Given the description of an element on the screen output the (x, y) to click on. 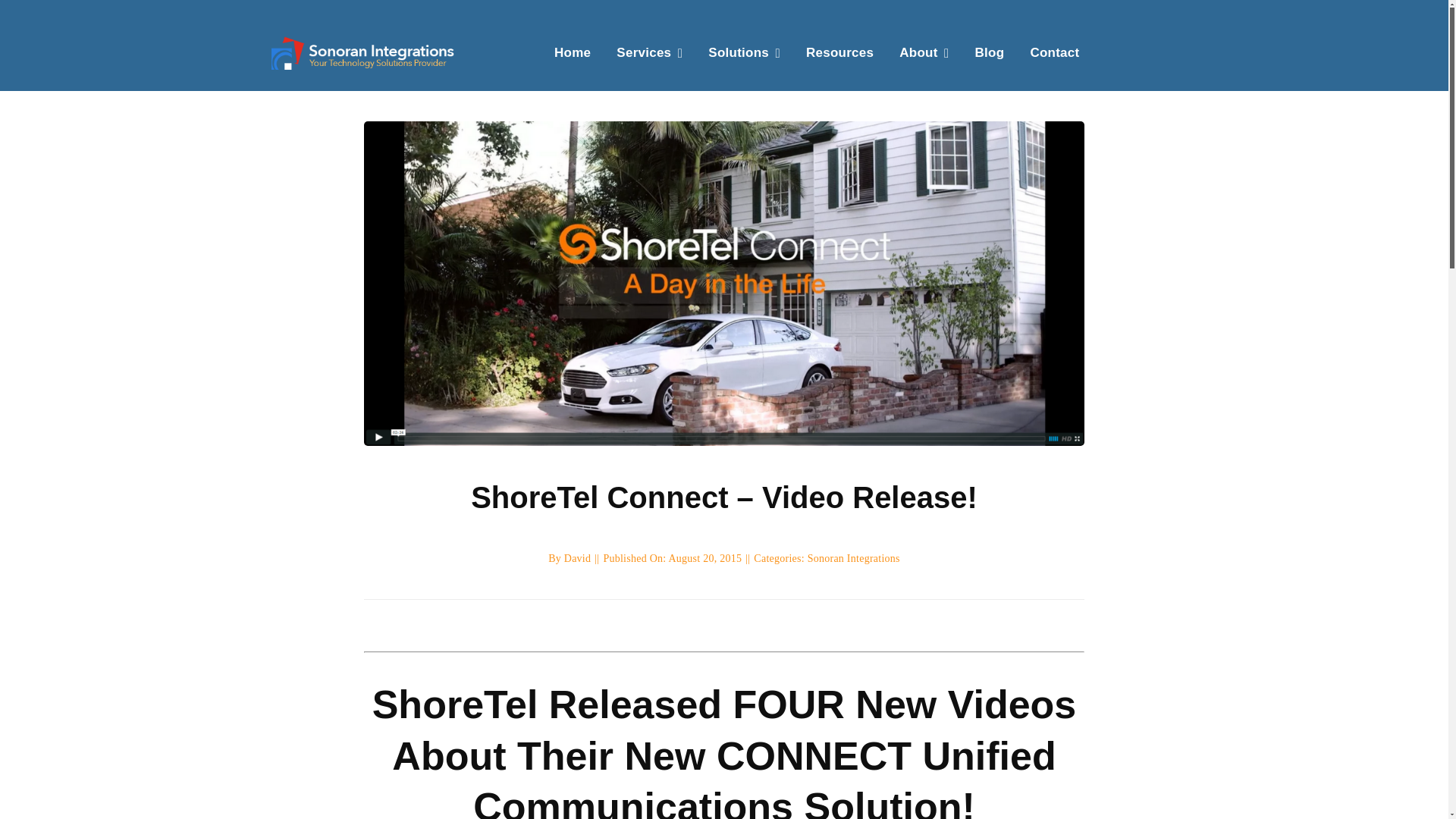
Solutions (743, 52)
David (577, 558)
Sonoran Integrations (853, 558)
Services (648, 52)
About (924, 52)
Contact (1053, 52)
Posts by David (577, 558)
Resources (839, 52)
